Given the description of an element on the screen output the (x, y) to click on. 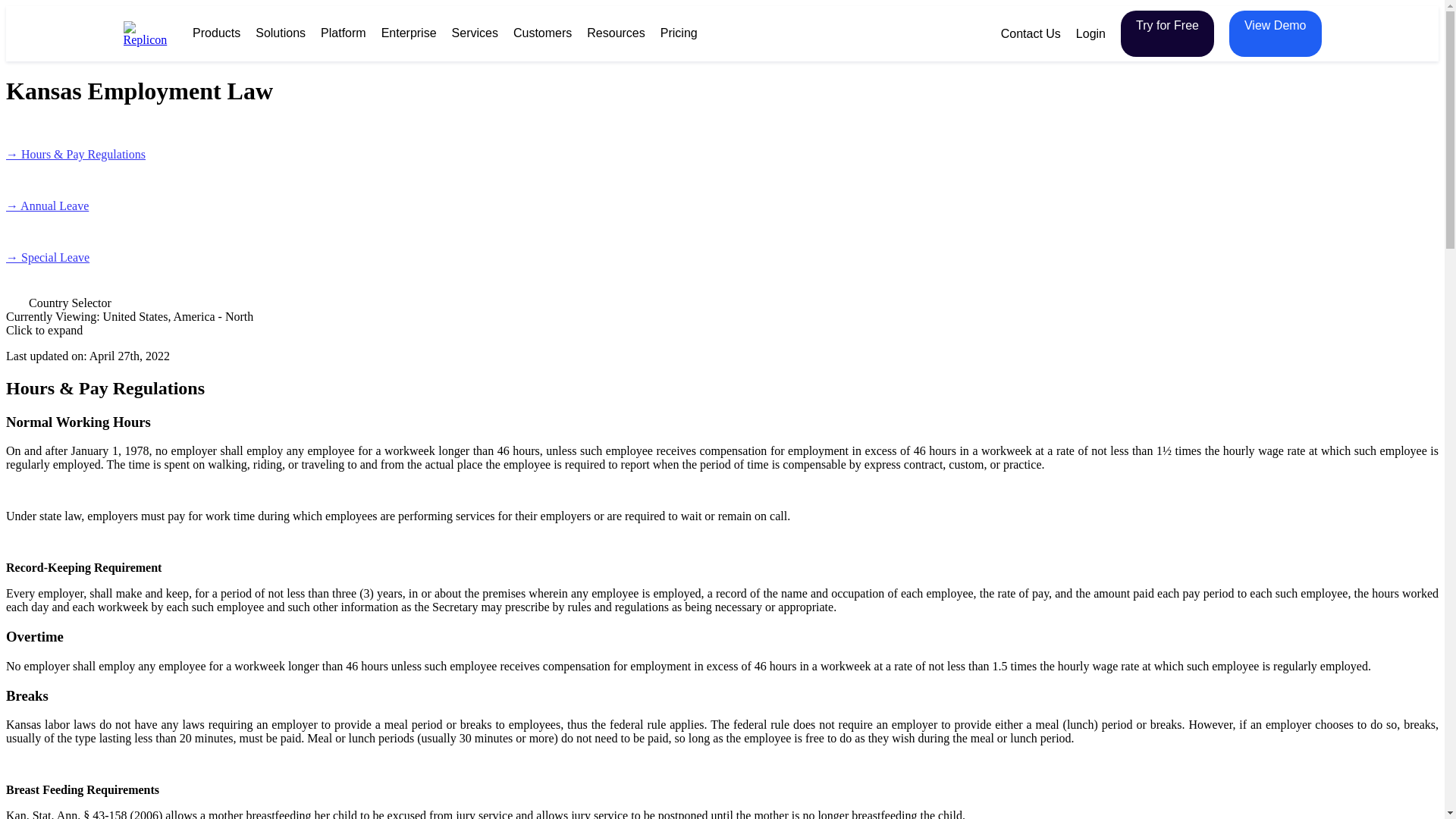
Platform (343, 32)
Solutions (280, 32)
Products (216, 32)
